Given the description of an element on the screen output the (x, y) to click on. 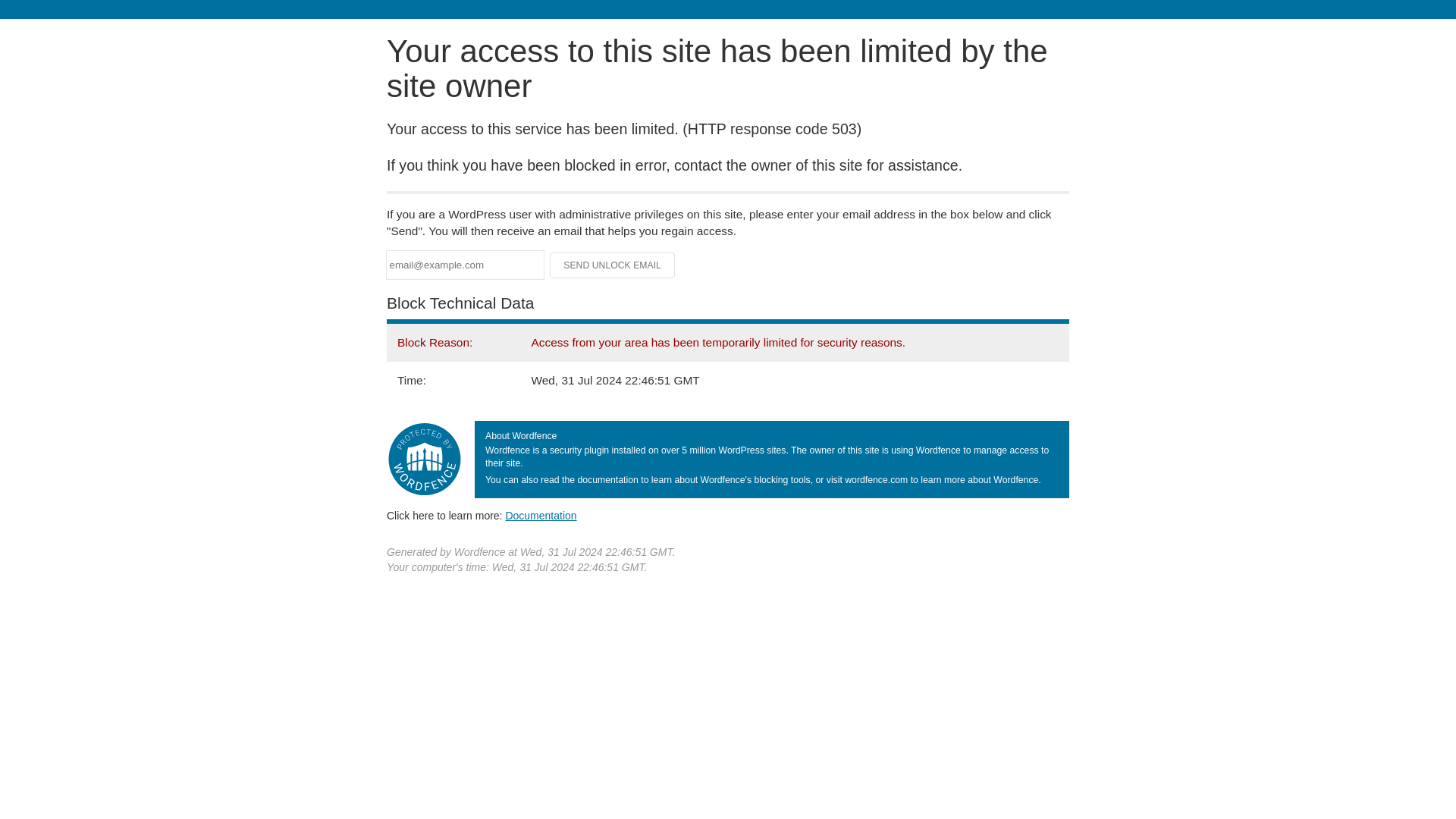
Documentation (540, 515)
Send Unlock Email (612, 265)
Send Unlock Email (612, 265)
